Given the description of an element on the screen output the (x, y) to click on. 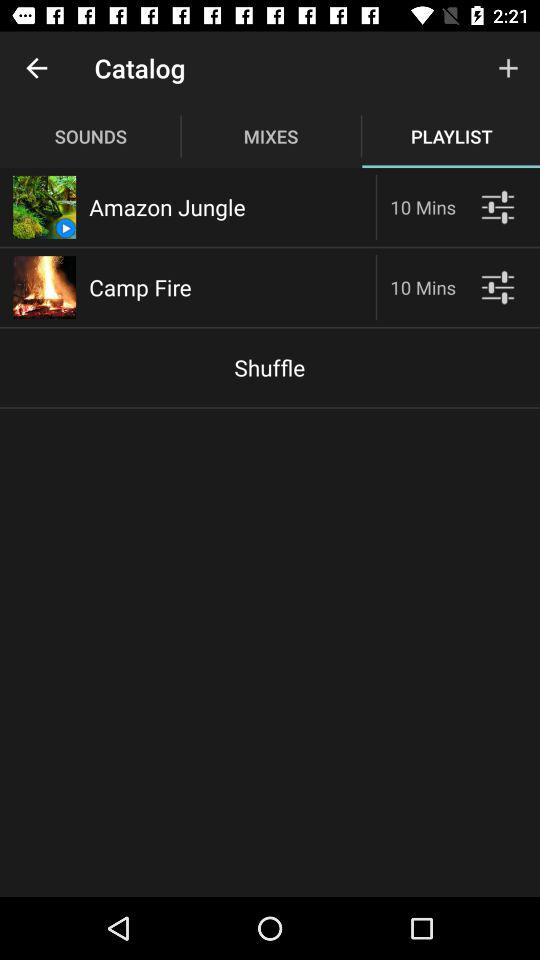
see player options (498, 287)
